Given the description of an element on the screen output the (x, y) to click on. 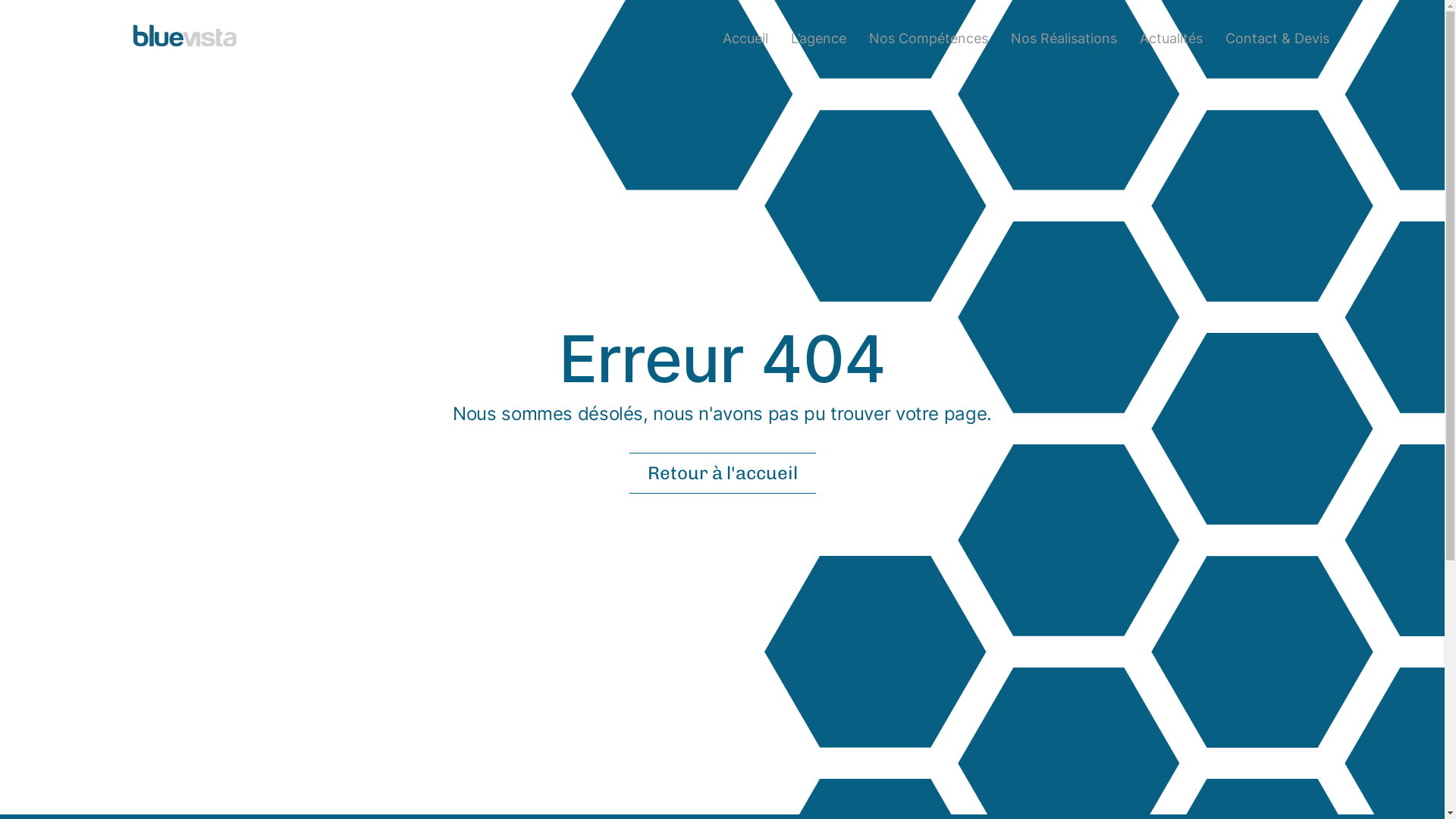
Contact & Devis Element type: text (1277, 37)
Accueil Element type: text (744, 37)
